Given the description of an element on the screen output the (x, y) to click on. 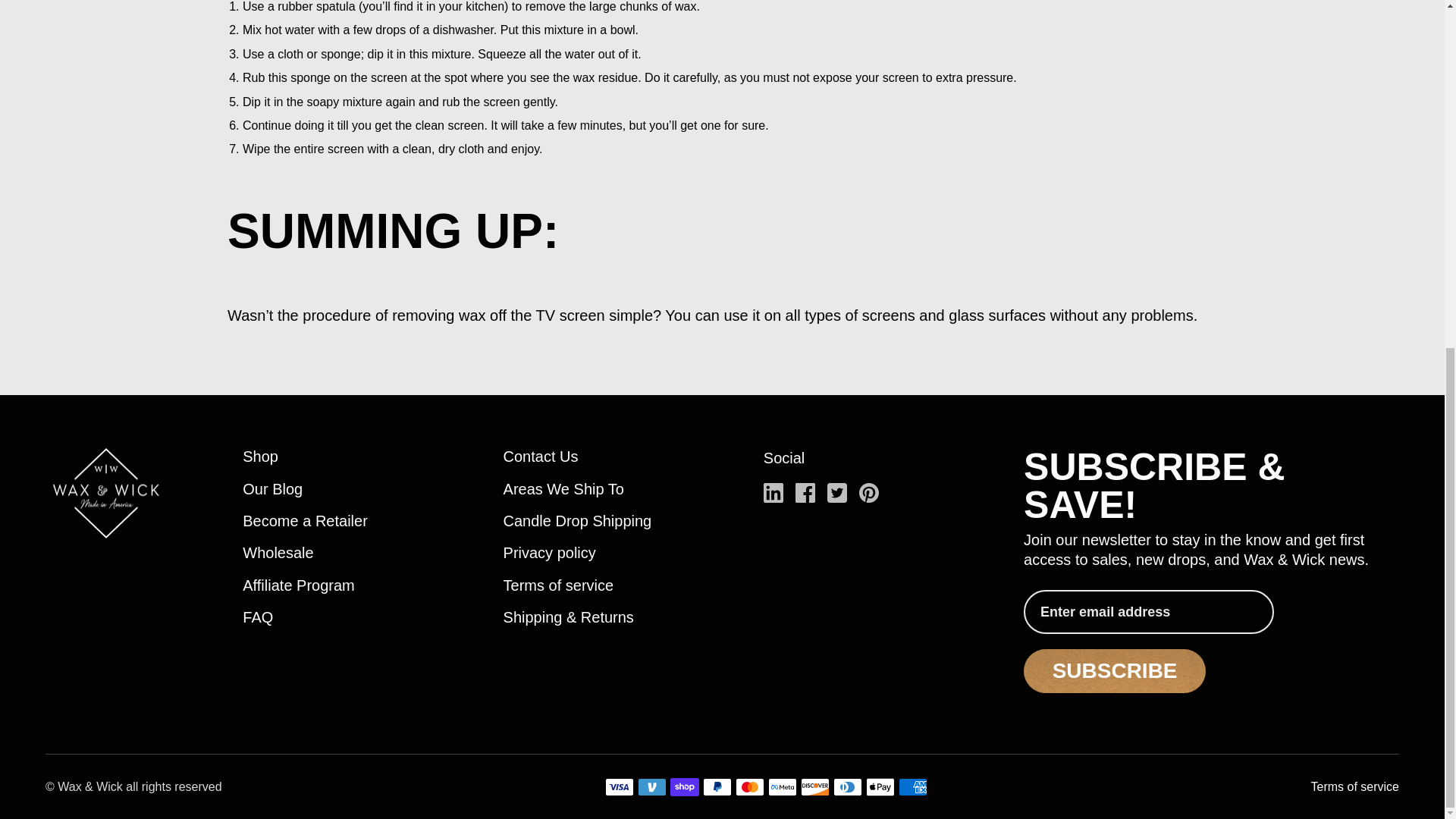
Become a Retailer (305, 521)
FAQ (258, 618)
Our Blog (272, 489)
Affiliate Program (298, 586)
Candle Drop Shipping (577, 521)
Terms of service (558, 586)
Shop (260, 456)
Wholesale (278, 553)
Contact Us (540, 456)
Privacy policy (549, 553)
Areas We Ship To (563, 489)
